Given the description of an element on the screen output the (x, y) to click on. 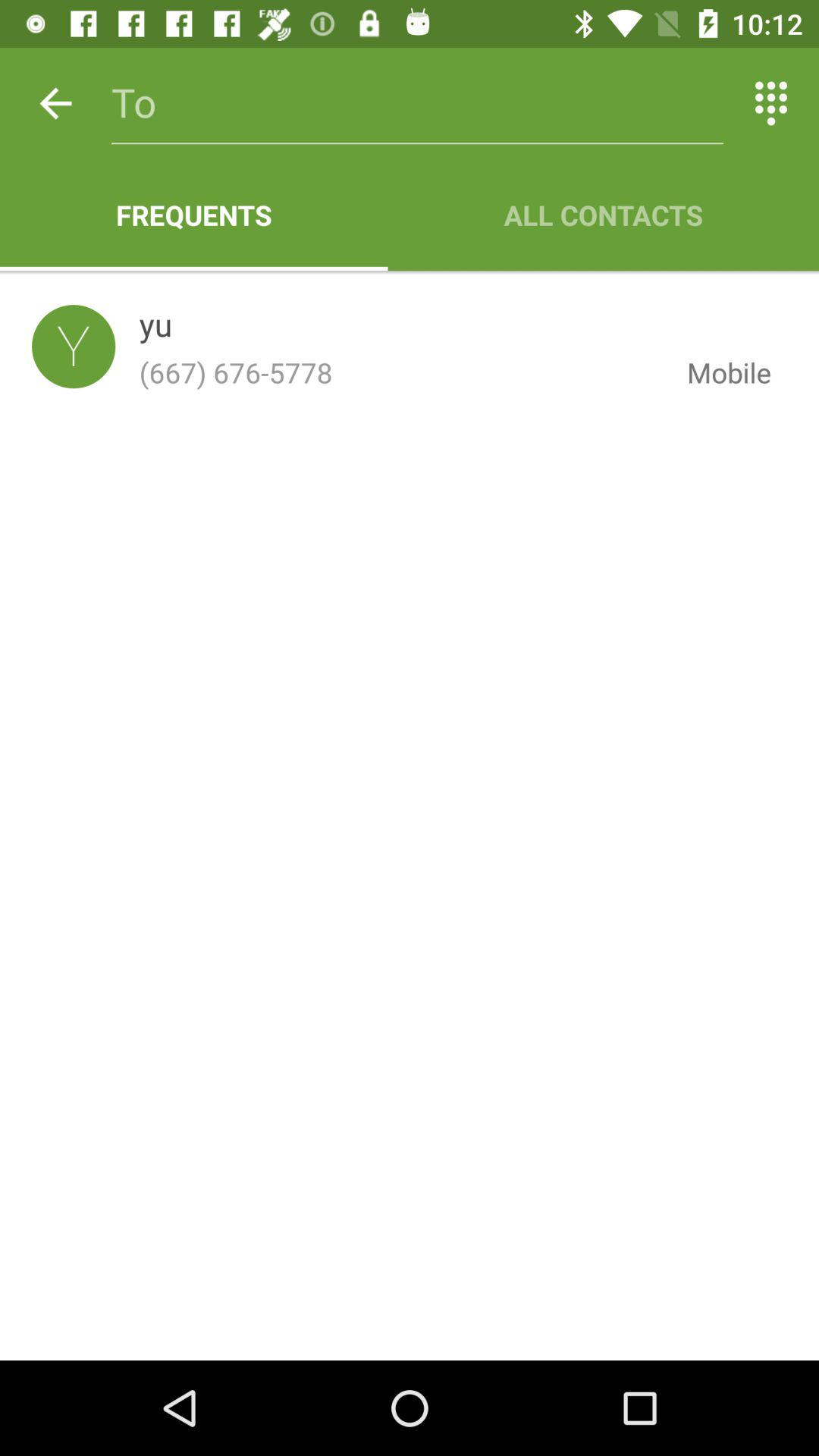
select the icon to the left of the all contacts icon (193, 214)
